Given the description of an element on the screen output the (x, y) to click on. 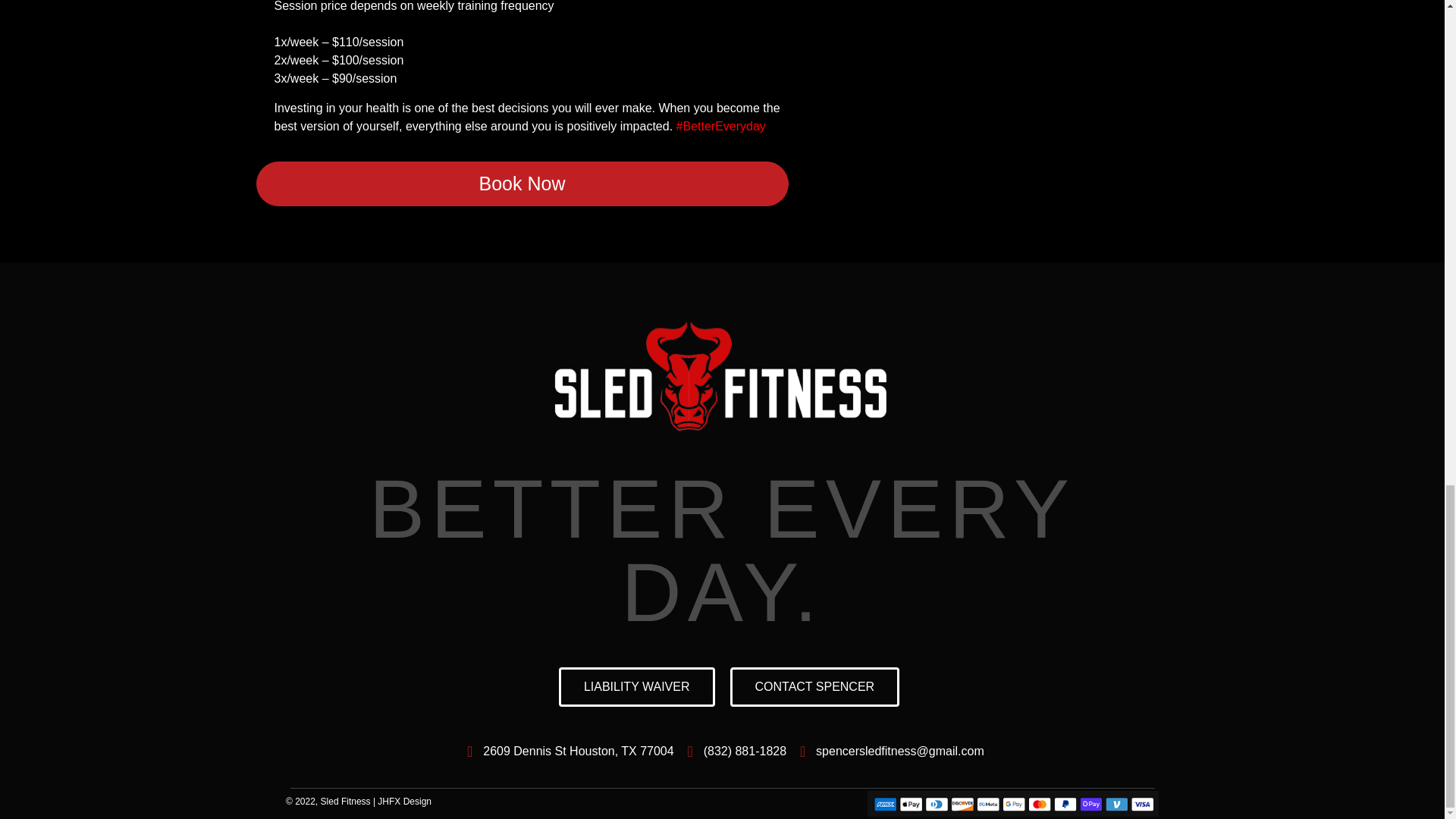
2609 Dennis St Houston, TX 77004 (566, 751)
LIABILITY WAIVER (636, 686)
JHFX Design (403, 801)
Book Now (522, 183)
CONTACT SPENCER (814, 686)
